Given the description of an element on the screen output the (x, y) to click on. 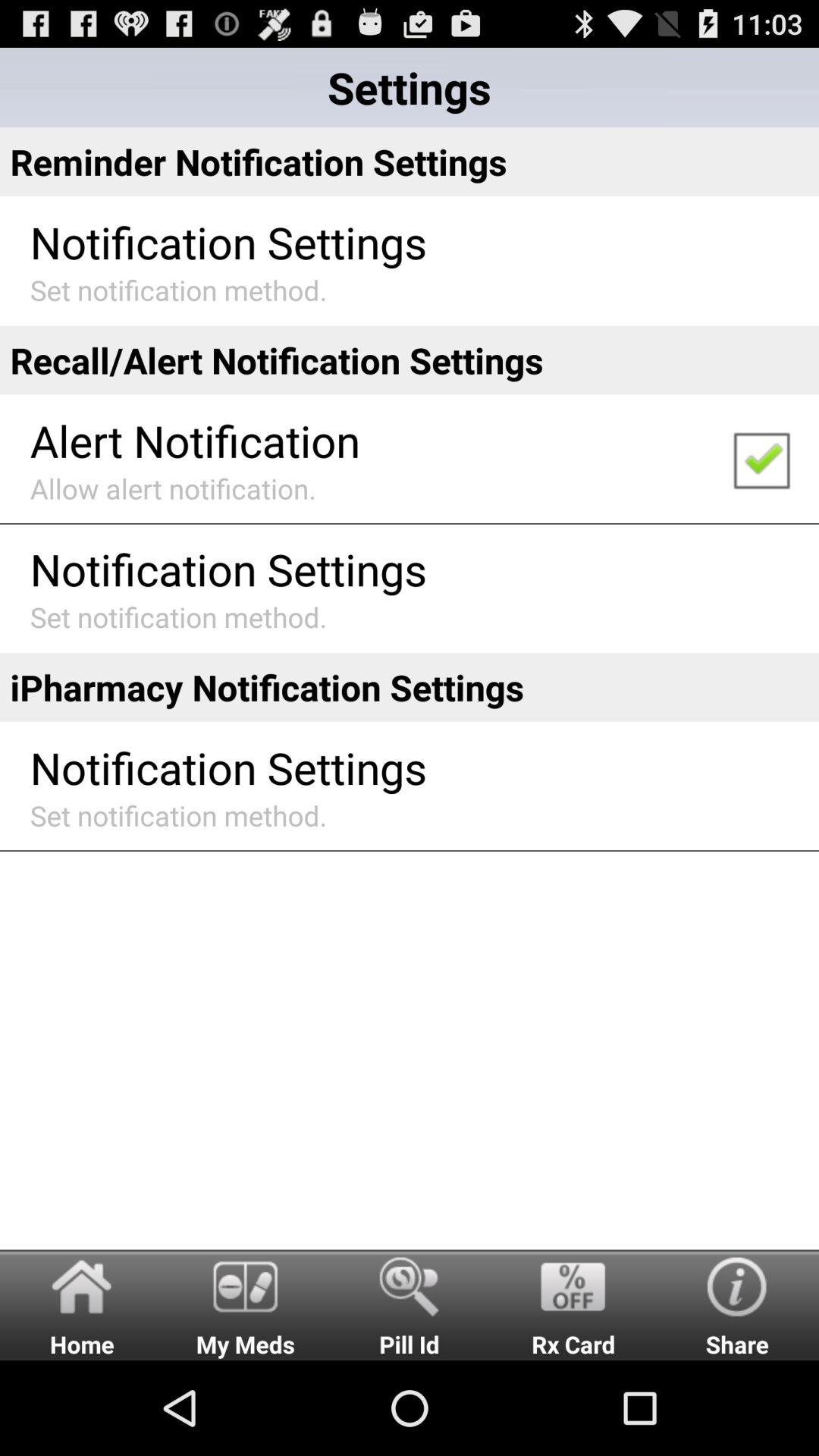
select the item below the set notification method. (409, 359)
